Given the description of an element on the screen output the (x, y) to click on. 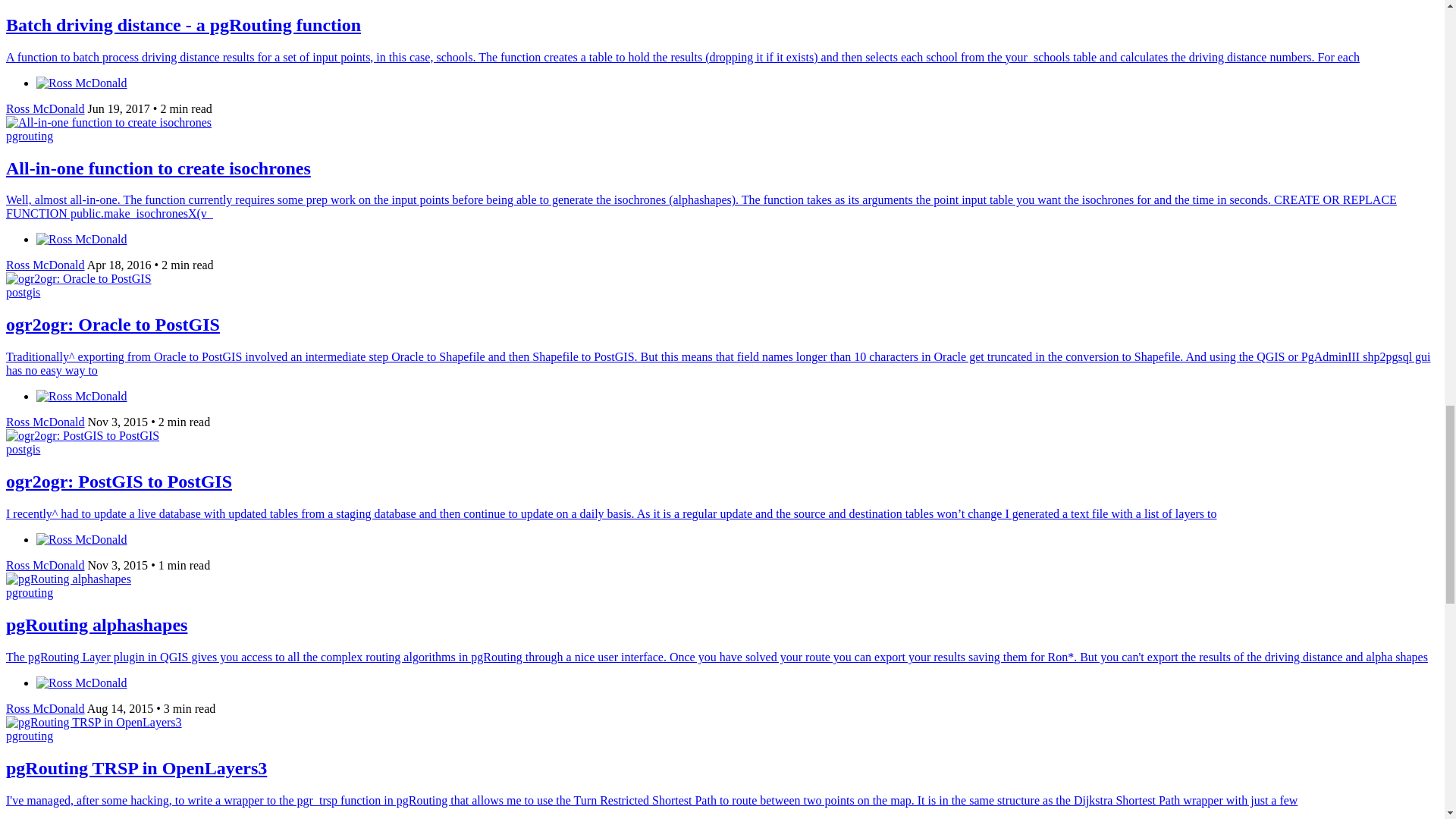
Ross McDonald (44, 421)
Ross McDonald (44, 264)
Ross McDonald (44, 564)
Ross McDonald (44, 108)
Ross McDonald (44, 707)
